Given the description of an element on the screen output the (x, y) to click on. 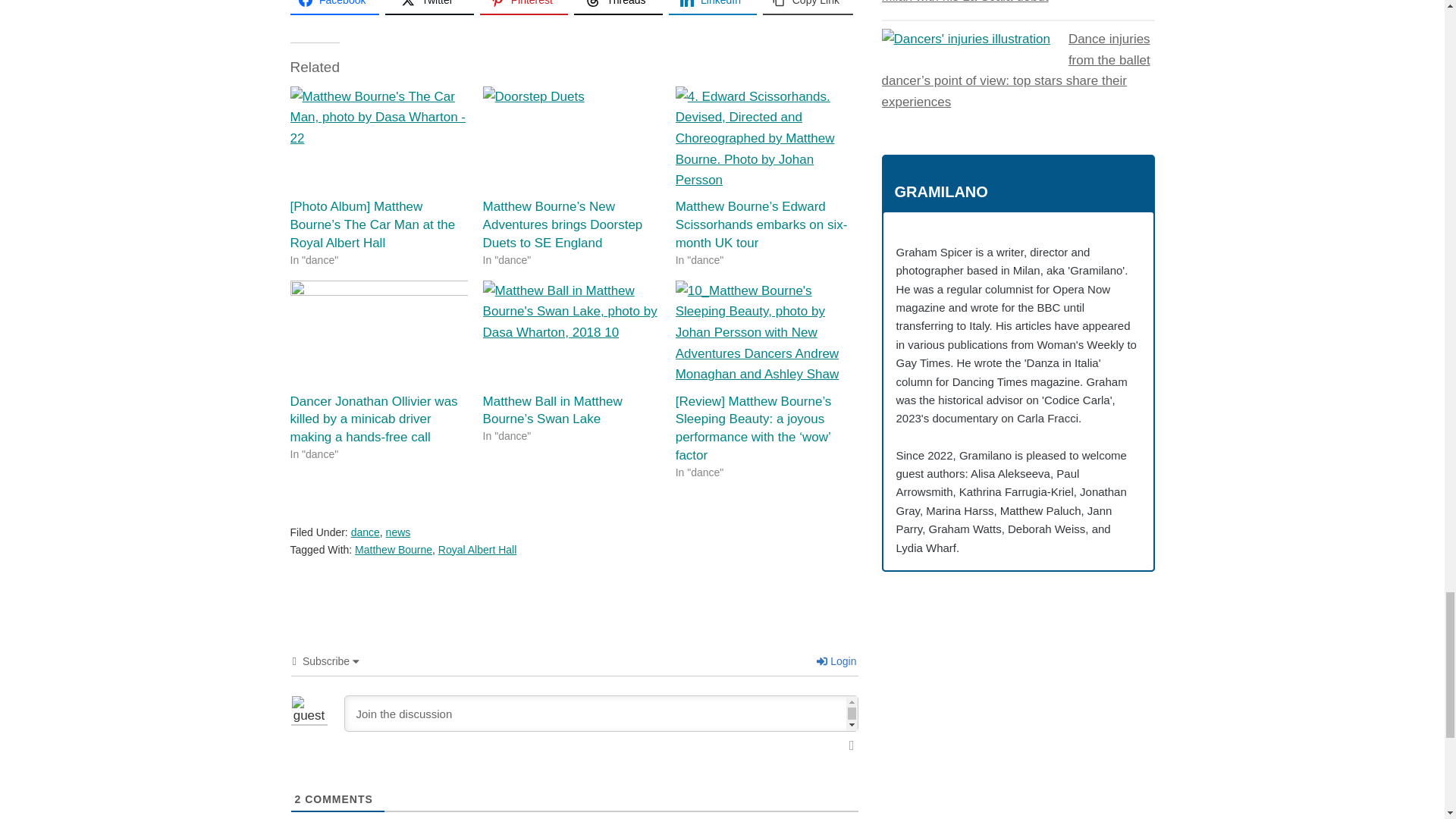
Threads (617, 7)
LinkedIn (712, 7)
Twitter (429, 7)
Facebook (333, 7)
Pinterest (524, 7)
